Given the description of an element on the screen output the (x, y) to click on. 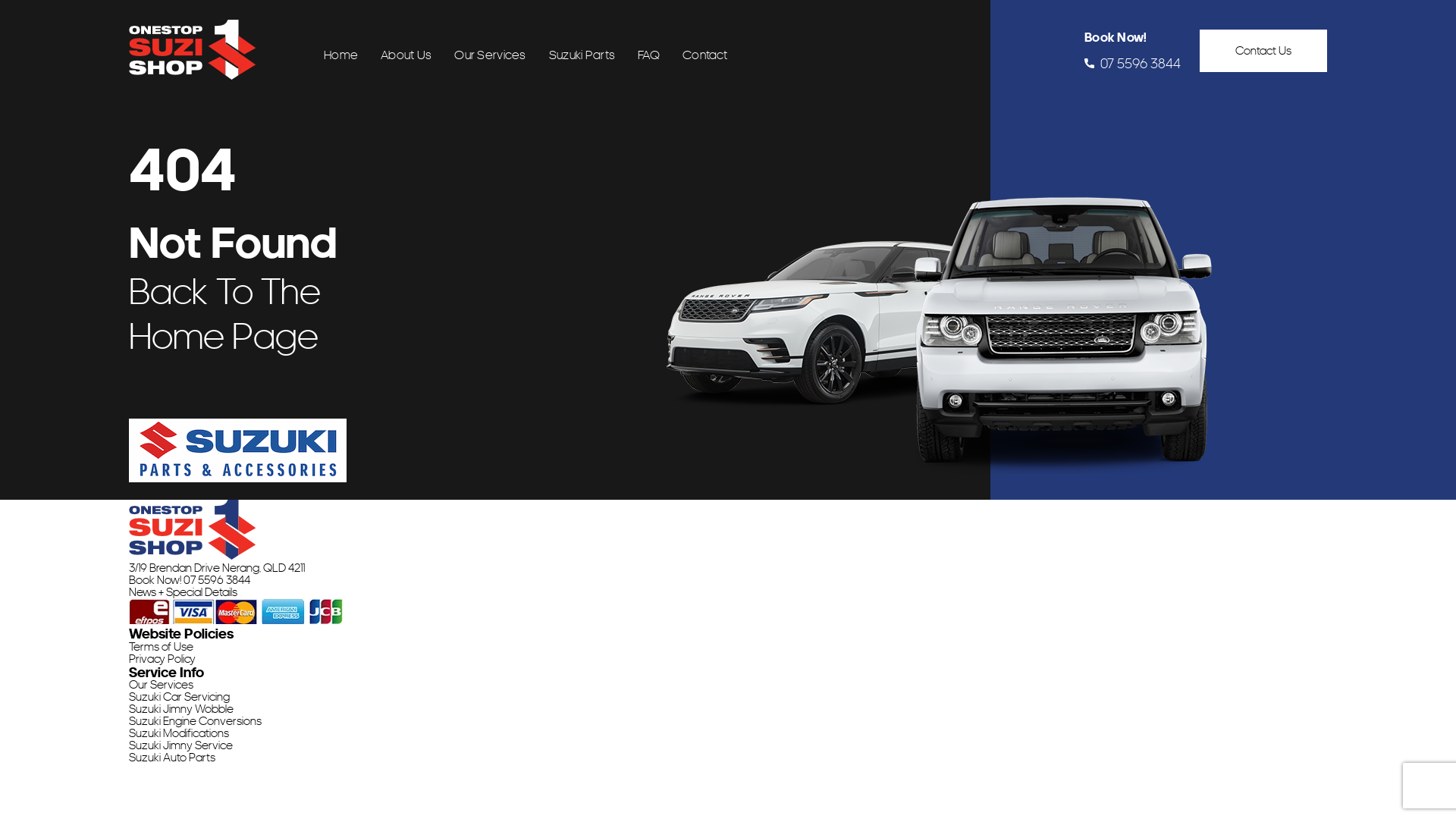
Contact Element type: text (704, 54)
About Us Element type: text (405, 54)
Suzuki Jimny Service Element type: text (180, 745)
Home Page Element type: text (223, 335)
Terms of Use Element type: text (160, 646)
Suzuki Auto Parts Element type: text (171, 757)
Privacy Policy Element type: text (161, 658)
Suzuki Parts Element type: text (582, 54)
FAQ Element type: text (648, 54)
Suzuki Engine Conversions Element type: text (194, 721)
07 5596 3844 Element type: text (216, 580)
Contact Us Element type: text (1263, 49)
Suzuki Modifications Element type: text (178, 733)
Home Element type: text (340, 54)
Our Services Element type: text (489, 54)
News + Special Details Element type: text (182, 592)
07 5596 3844 Element type: text (1132, 63)
Suzuki Car Servicing Element type: text (178, 696)
Our Services Element type: text (160, 684)
Suzuki Jimny Wobble Element type: text (180, 708)
